Given the description of an element on the screen output the (x, y) to click on. 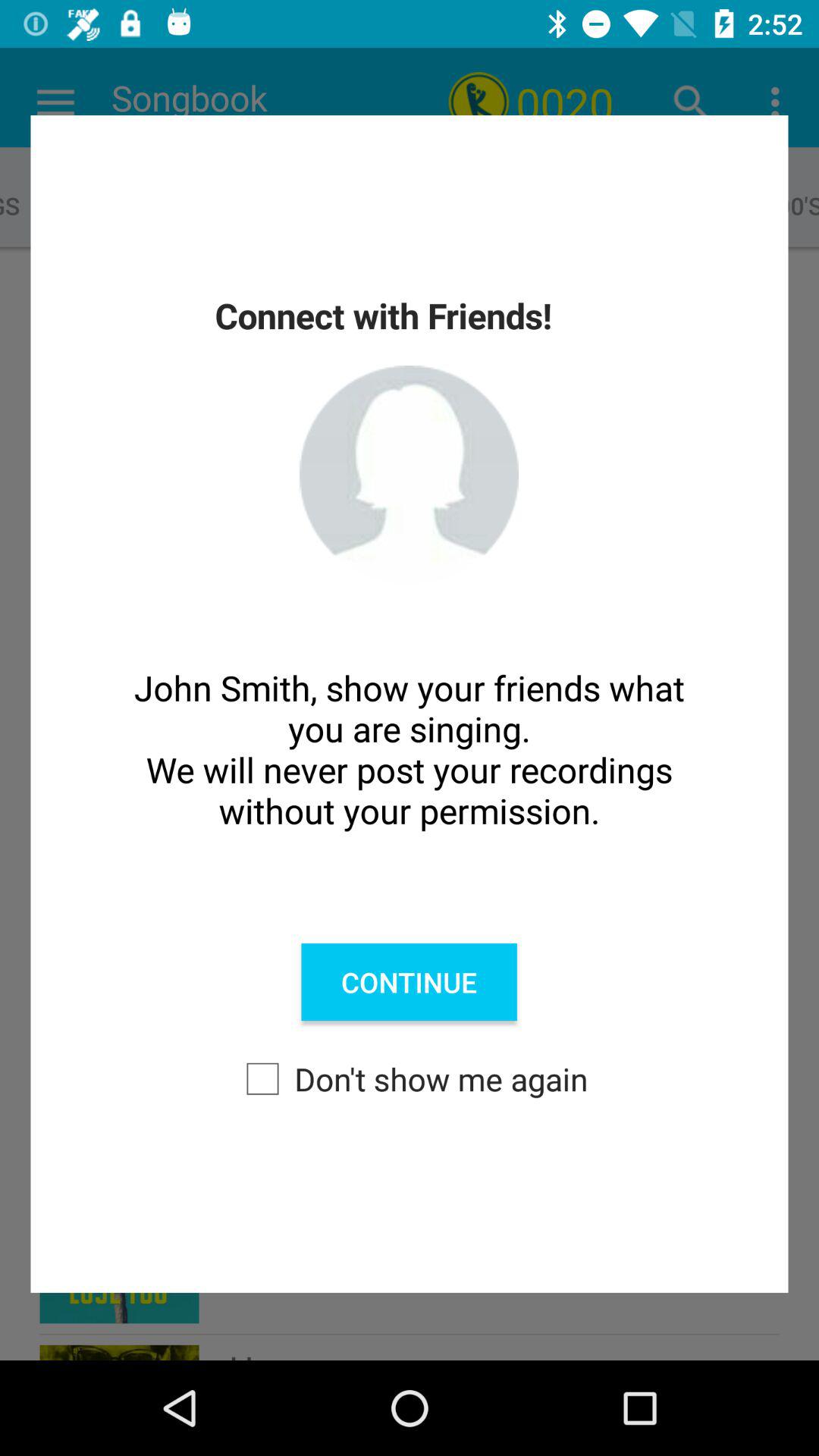
turn on icon below the continue icon (409, 1078)
